Given the description of an element on the screen output the (x, y) to click on. 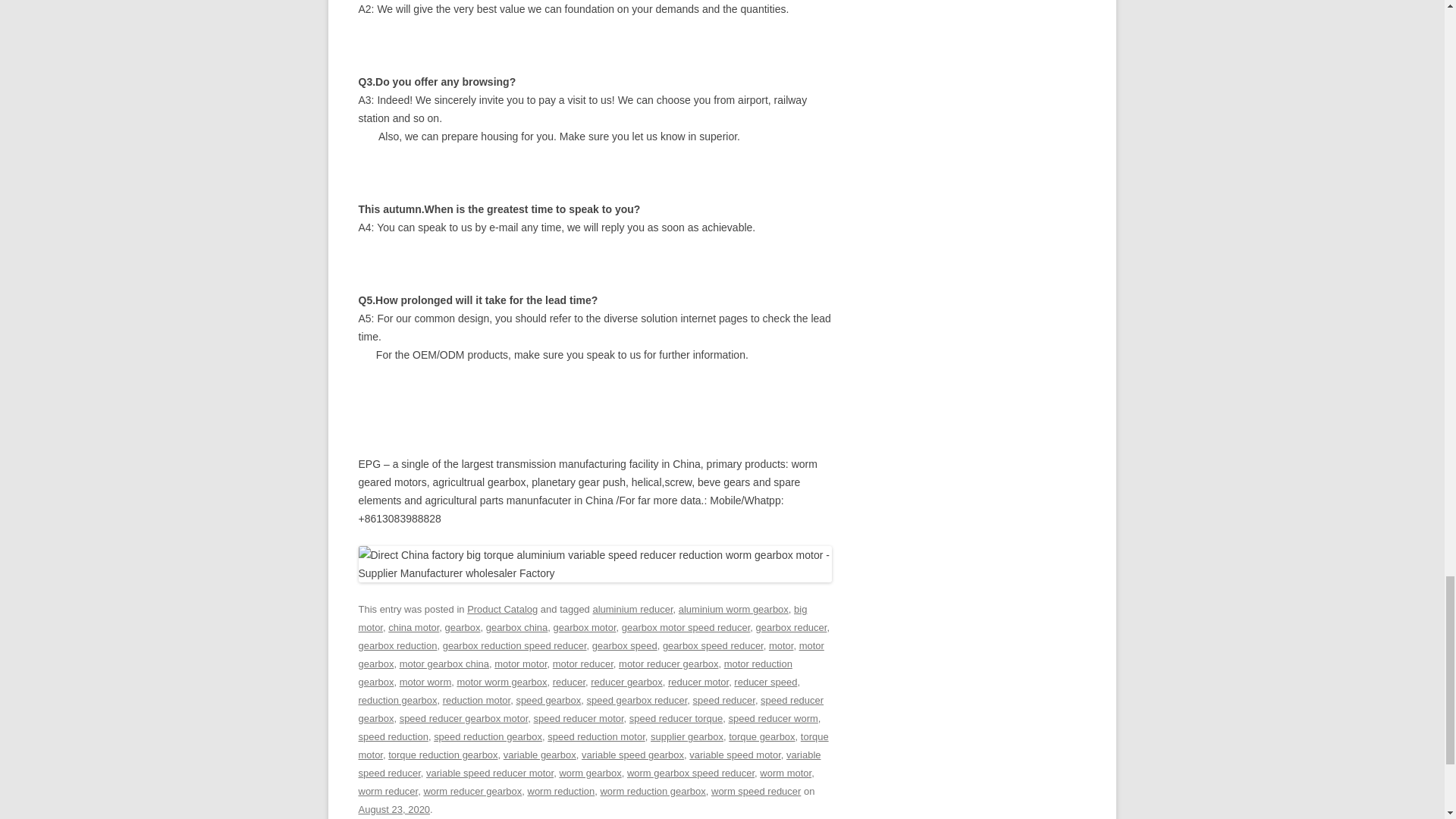
reducer speed (764, 681)
gearbox motor (584, 627)
gearbox speed reducer (712, 645)
motor worm gearbox (502, 681)
speed gearbox reducer (636, 699)
gearbox speed (625, 645)
motor reduction gearbox (575, 672)
reducer gearbox (626, 681)
aluminium reducer (632, 609)
speed reducer gearbox (591, 708)
motor reducer (582, 663)
gearbox reducer (791, 627)
speed reducer gearbox motor (463, 717)
gearbox china (517, 627)
china motor (413, 627)
